Given the description of an element on the screen output the (x, y) to click on. 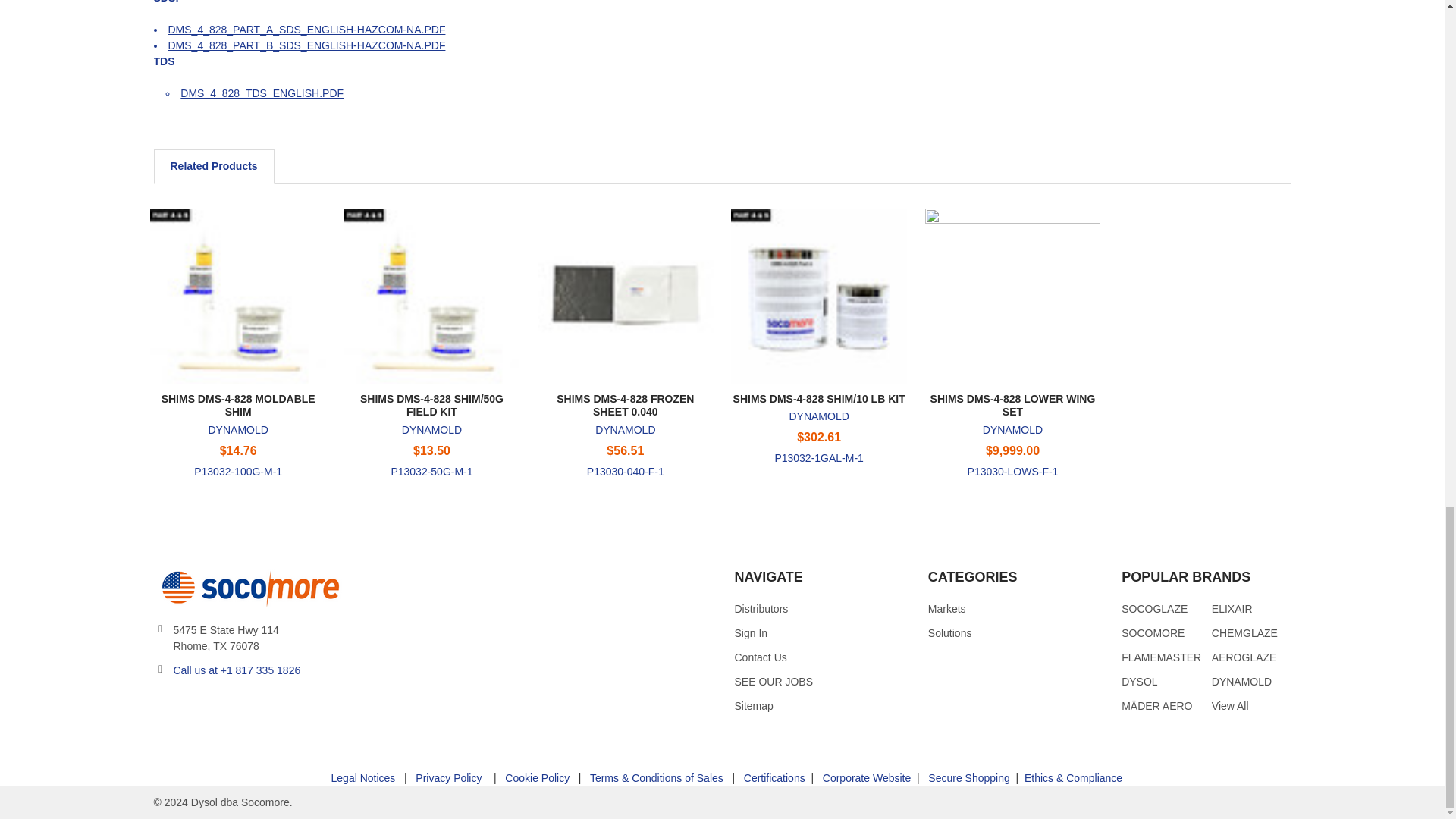
Twitter (164, 707)
SHIMS DMS-4-828 MOLDABLE SHIM (236, 296)
SHIMS DMS-4-828 FROZEN SHEET 0.040 (625, 296)
Linkedin (246, 707)
Youtube (219, 707)
Facebook (191, 707)
Dysol dba Socomore (247, 587)
